Given the description of an element on the screen output the (x, y) to click on. 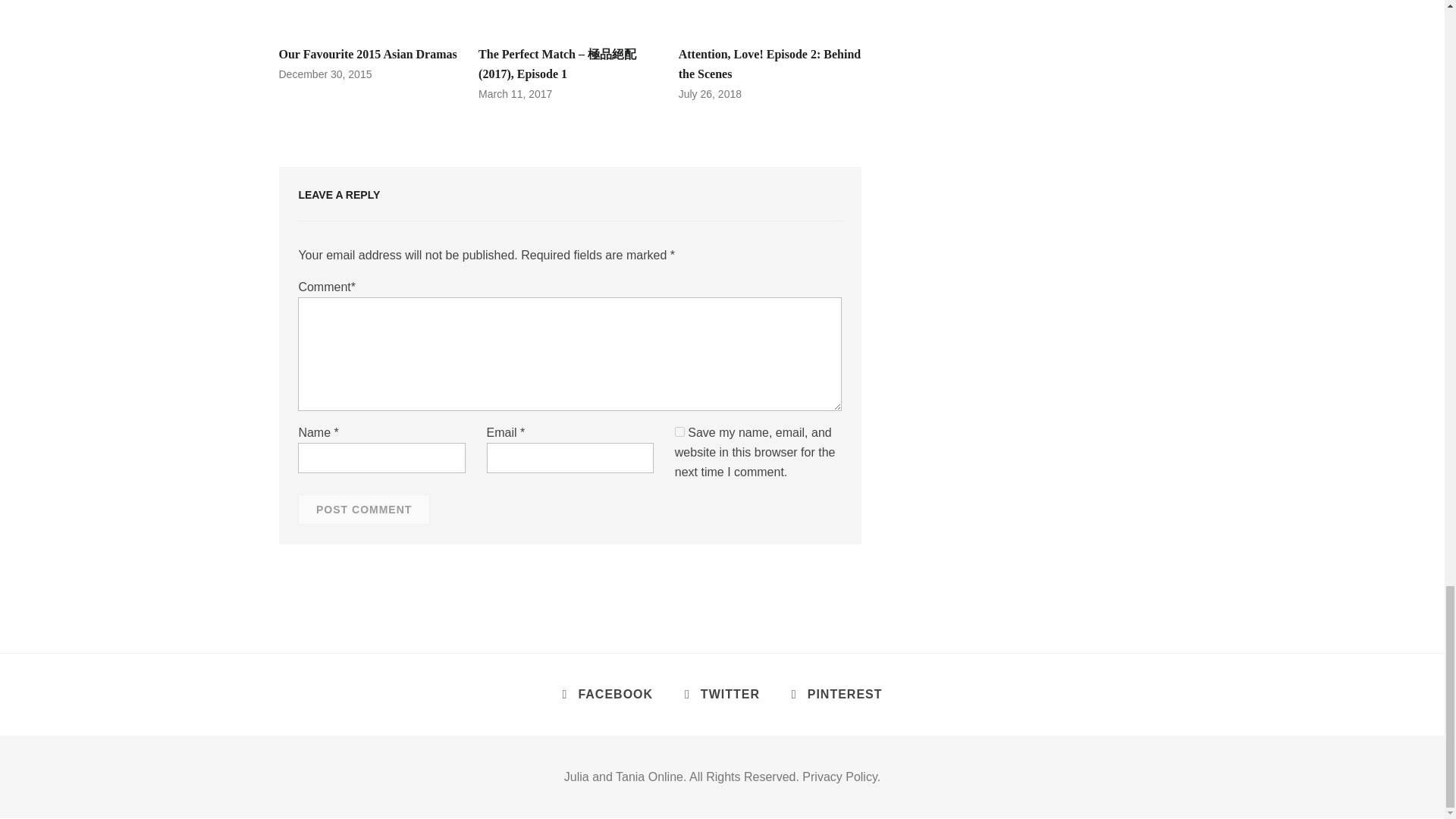
Post Comment (363, 509)
yes (679, 431)
